Given the description of an element on the screen output the (x, y) to click on. 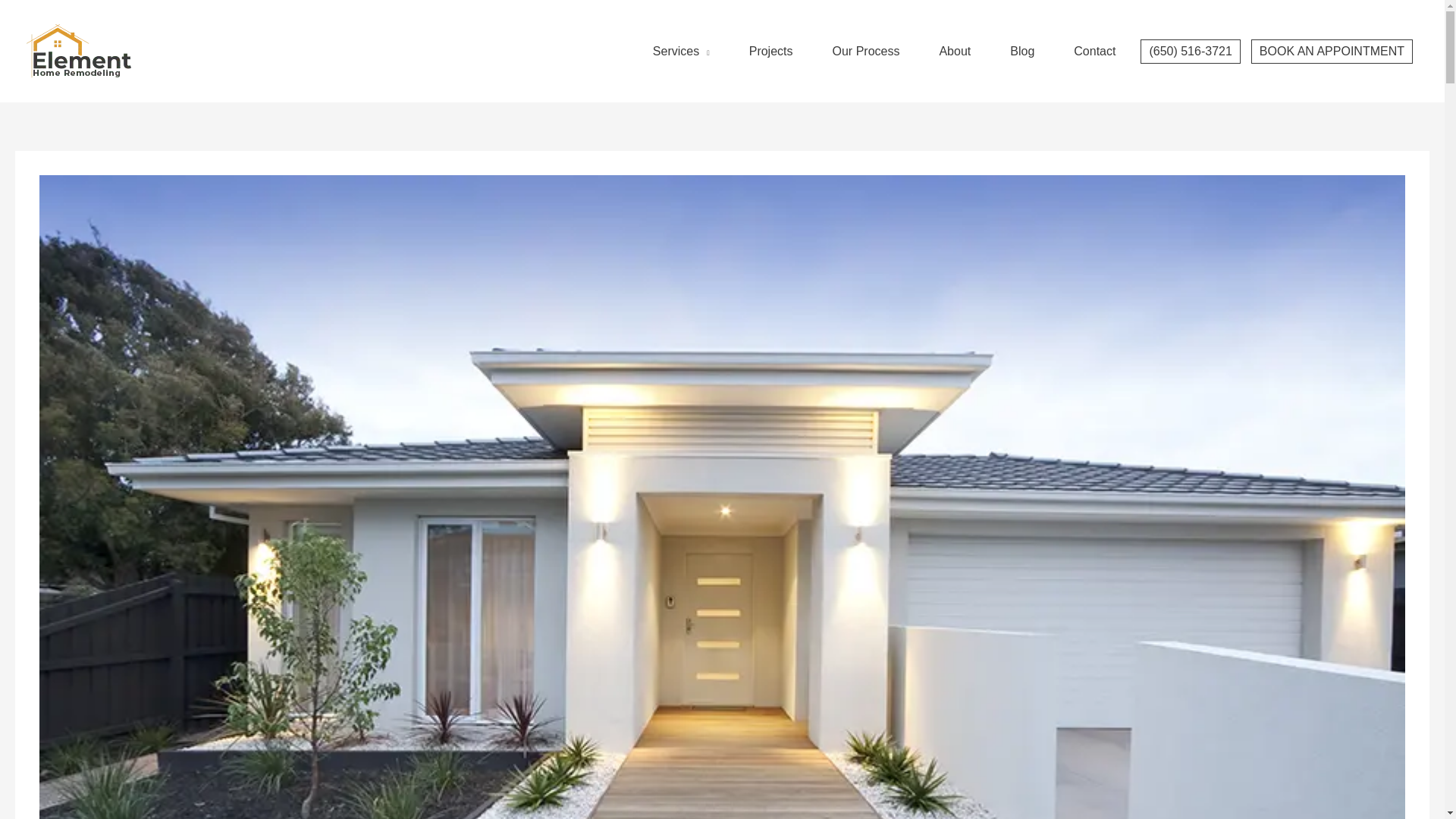
About (954, 36)
Contact (1093, 36)
Our Process (866, 36)
BOOK AN APPOINTMENT (1331, 36)
Projects (770, 36)
About us  (954, 36)
Blog (1021, 36)
Services (681, 36)
Contact us  (1093, 36)
